Given the description of an element on the screen output the (x, y) to click on. 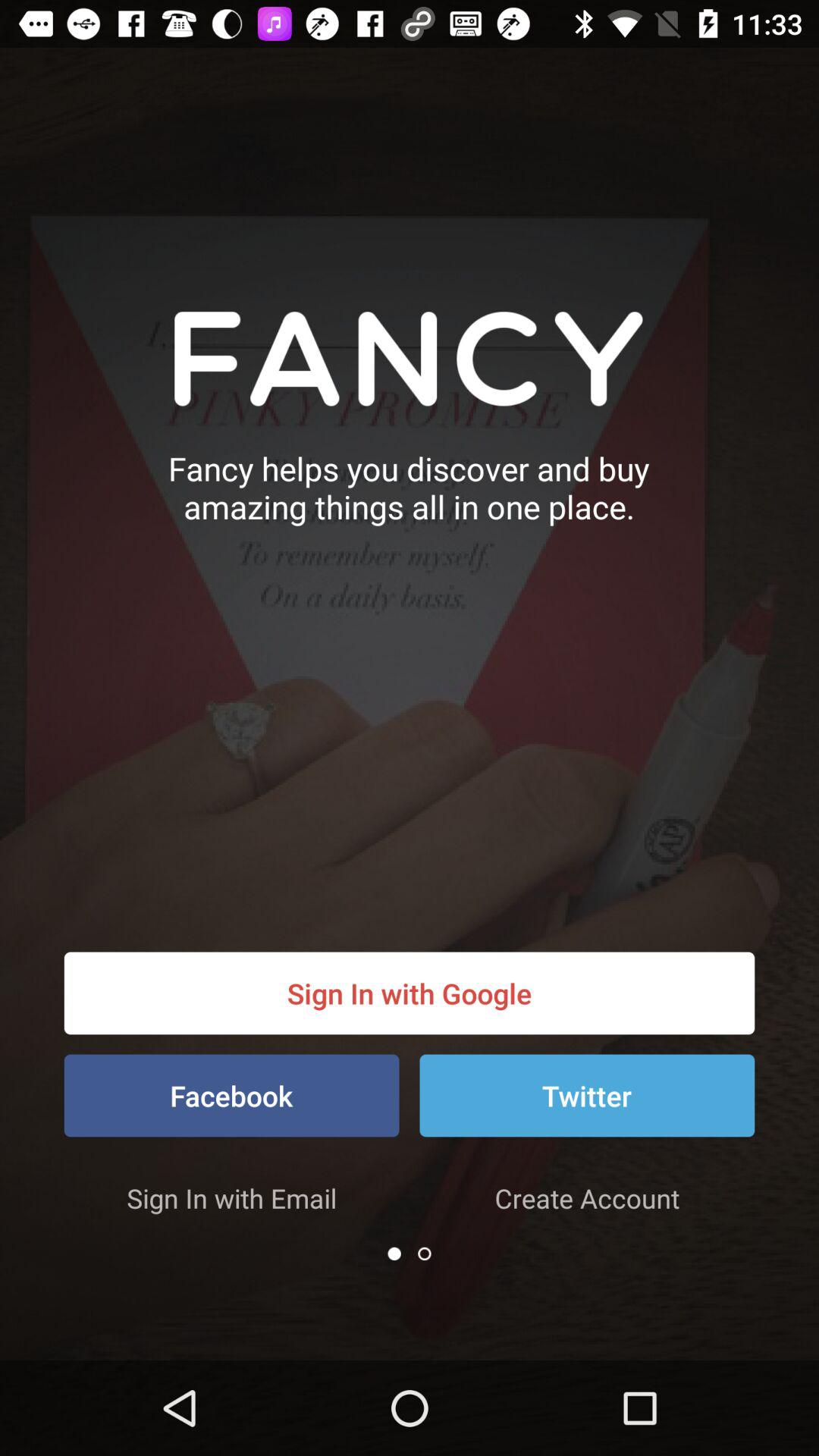
open icon to the left of twitter icon (231, 1095)
